Given the description of an element on the screen output the (x, y) to click on. 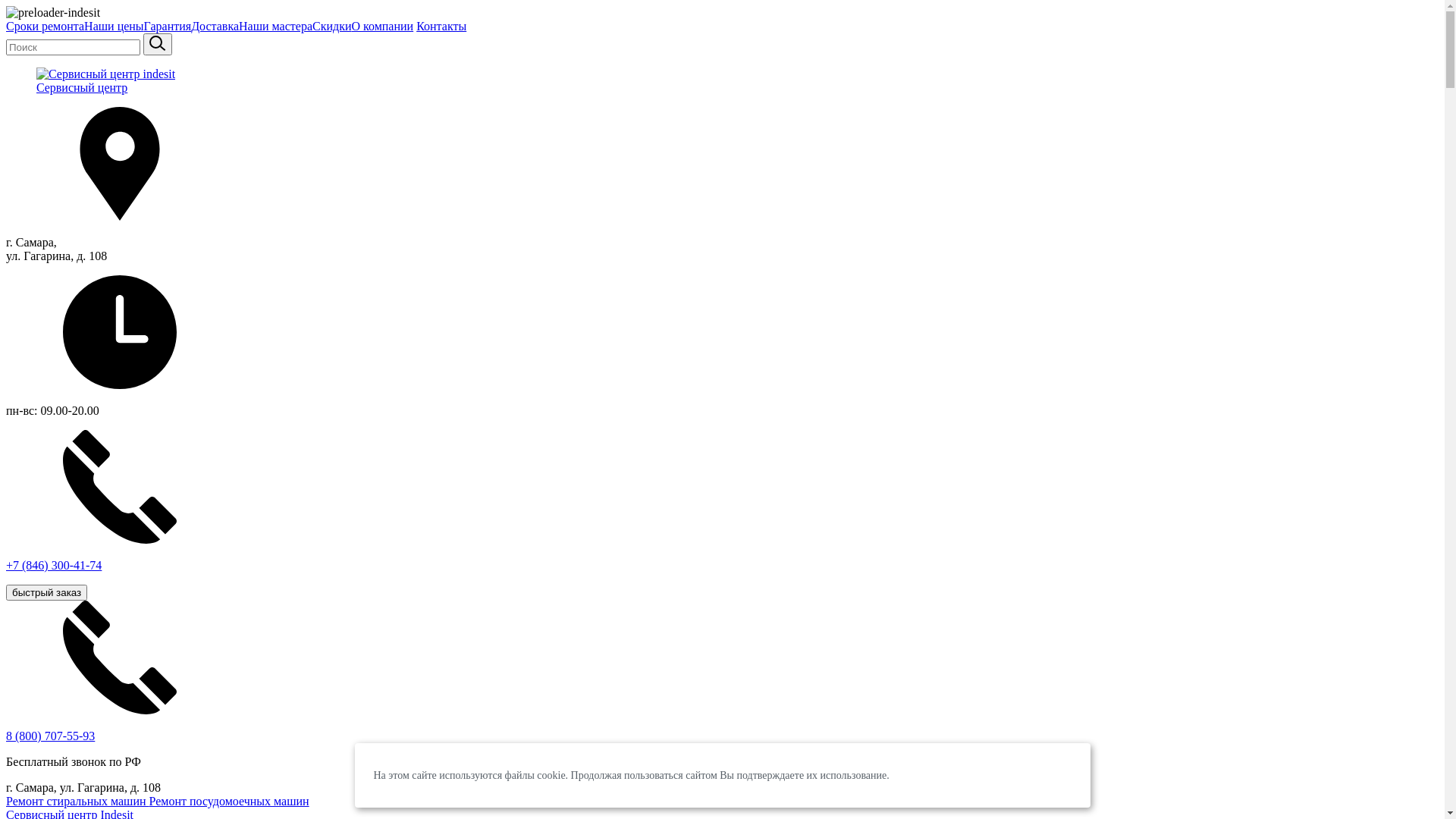
+7 (846) 300-41-74 Element type: text (722, 513)
sisea.search Element type: text (157, 44)
8 (800) 707-55-93 Element type: text (50, 735)
